Given the description of an element on the screen output the (x, y) to click on. 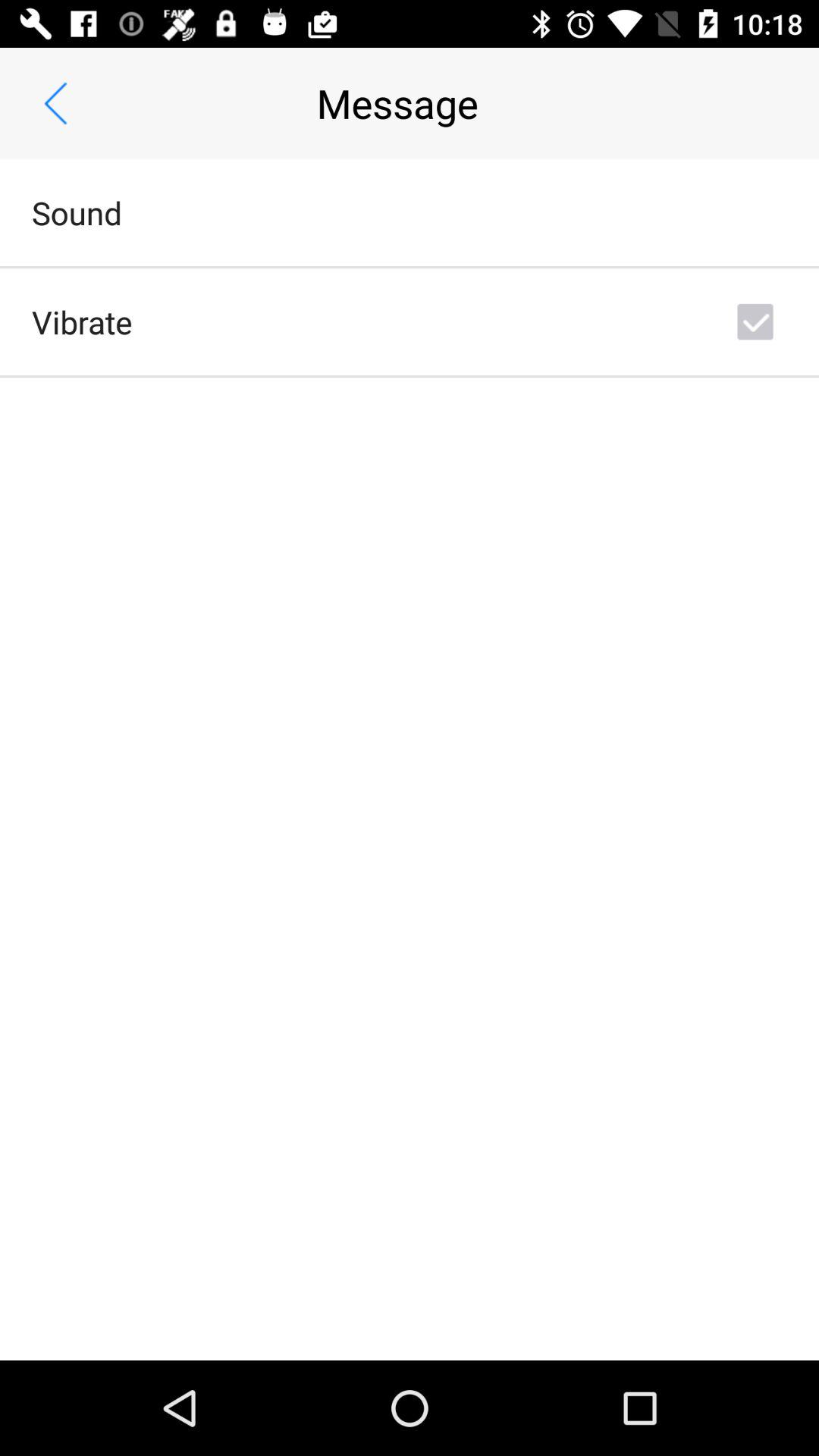
scroll to the sound (76, 212)
